Given the description of an element on the screen output the (x, y) to click on. 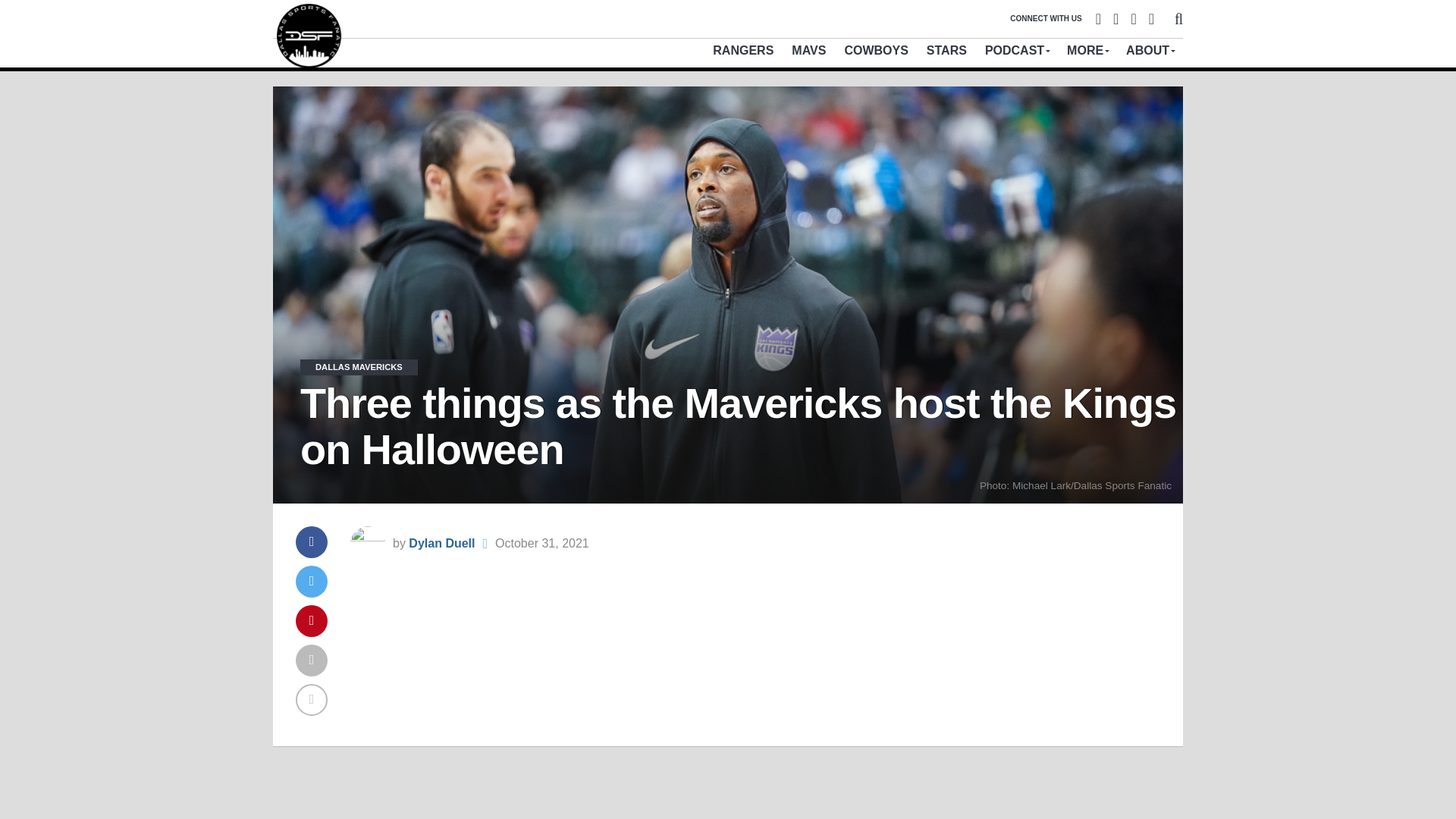
RANGERS (743, 50)
MAVS (808, 50)
Posts by Dylan Duell (441, 543)
